Given the description of an element on the screen output the (x, y) to click on. 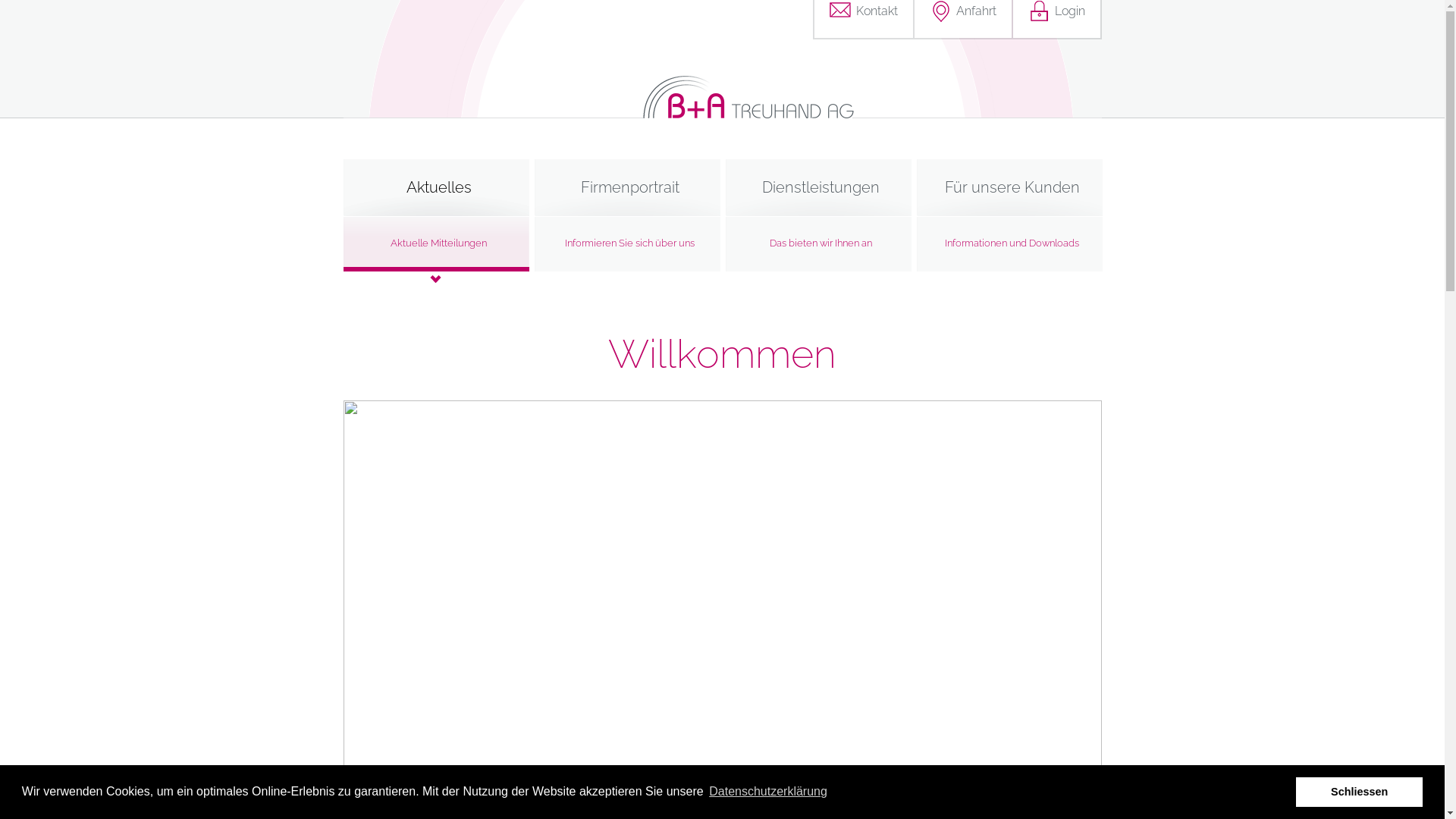
Aktuelles
Aktuelle Mitteilungen Element type: text (437, 220)
Schliessen Element type: text (1358, 791)
Dienstleistungen
Das bieten wir Ihnen an Element type: text (820, 220)
